Given the description of an element on the screen output the (x, y) to click on. 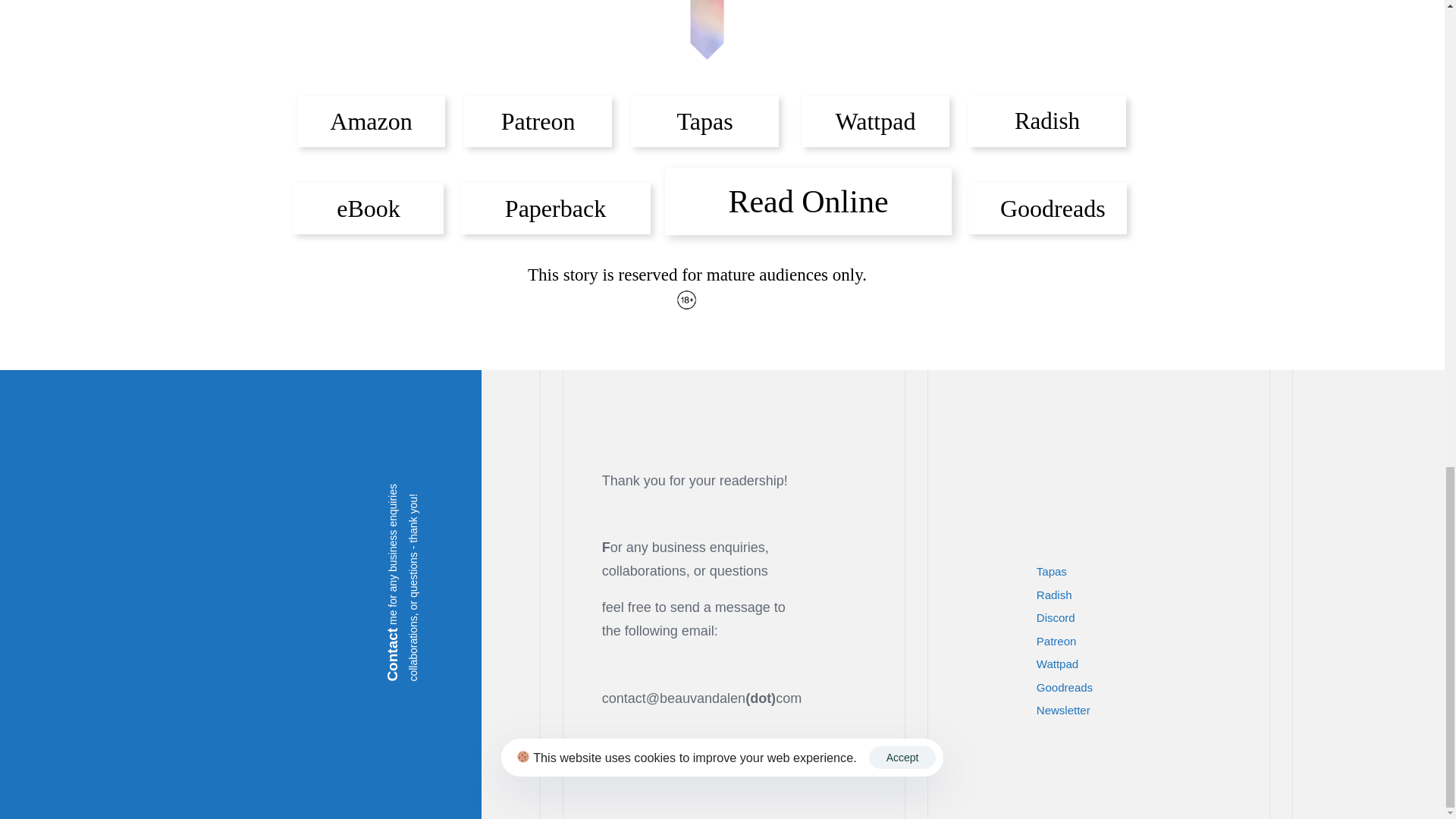
Goodreads (1047, 208)
Patreon (537, 121)
Discord (1149, 618)
Wattpad (1149, 664)
Read Online (808, 201)
eBook (369, 208)
Paperback (555, 208)
Patreon (1149, 641)
Newsletter (1149, 710)
Goodreads (1149, 687)
Radish (1046, 121)
Radish (1149, 595)
Tapas (1149, 571)
Wattpad (875, 121)
Tapas (704, 121)
